Given the description of an element on the screen output the (x, y) to click on. 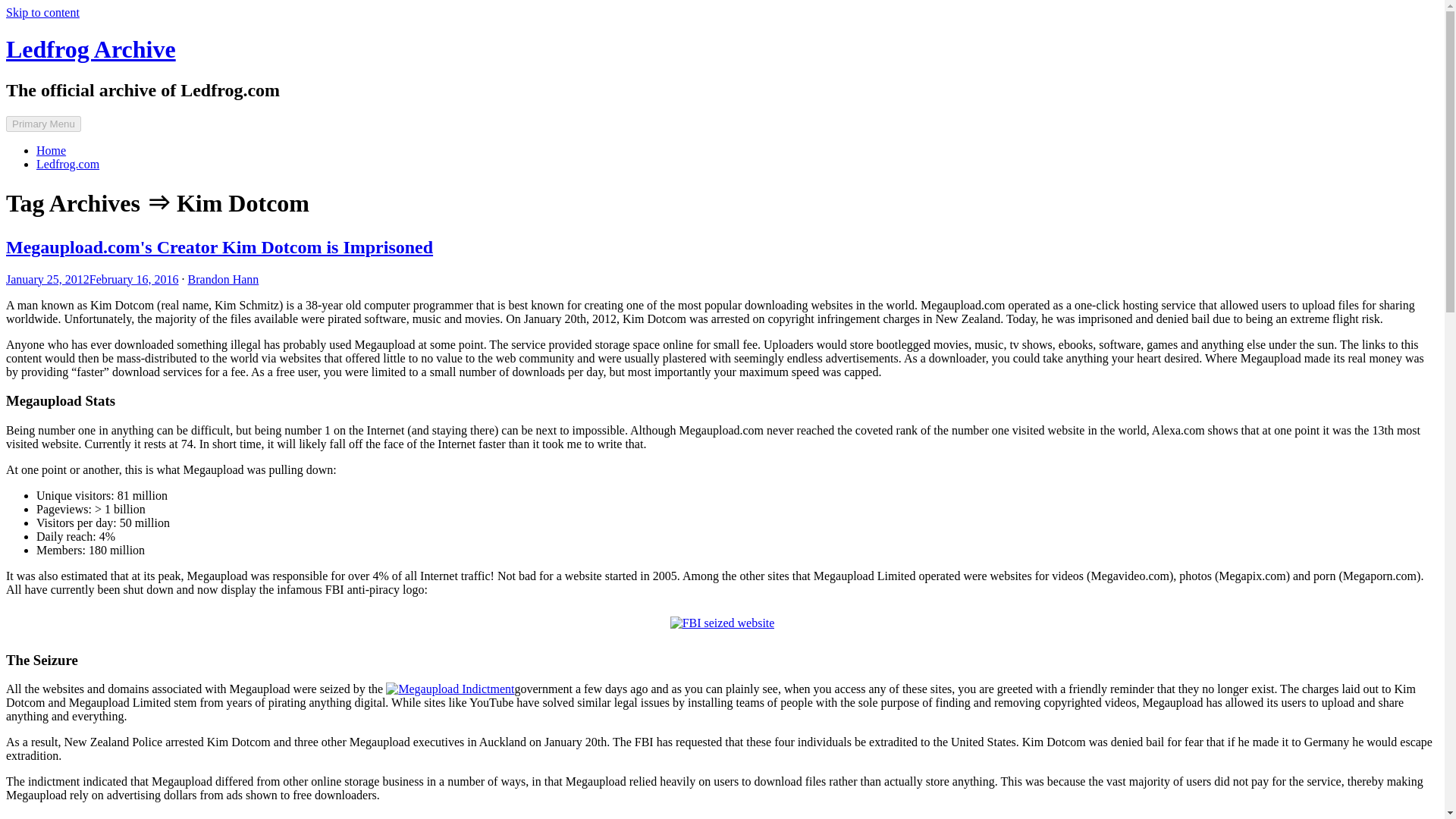
Home (50, 150)
Primary Menu (43, 123)
Megaupload.com's Creator Kim Dotcom is Imprisoned (218, 247)
FBI seized website (721, 622)
Megaupload Indictment (449, 689)
January 25, 2012February 16, 2016 (92, 278)
Brandon Hann (223, 278)
Ledfrog Archive (90, 49)
Ledfrog.com (67, 164)
Skip to content (42, 11)
